Given the description of an element on the screen output the (x, y) to click on. 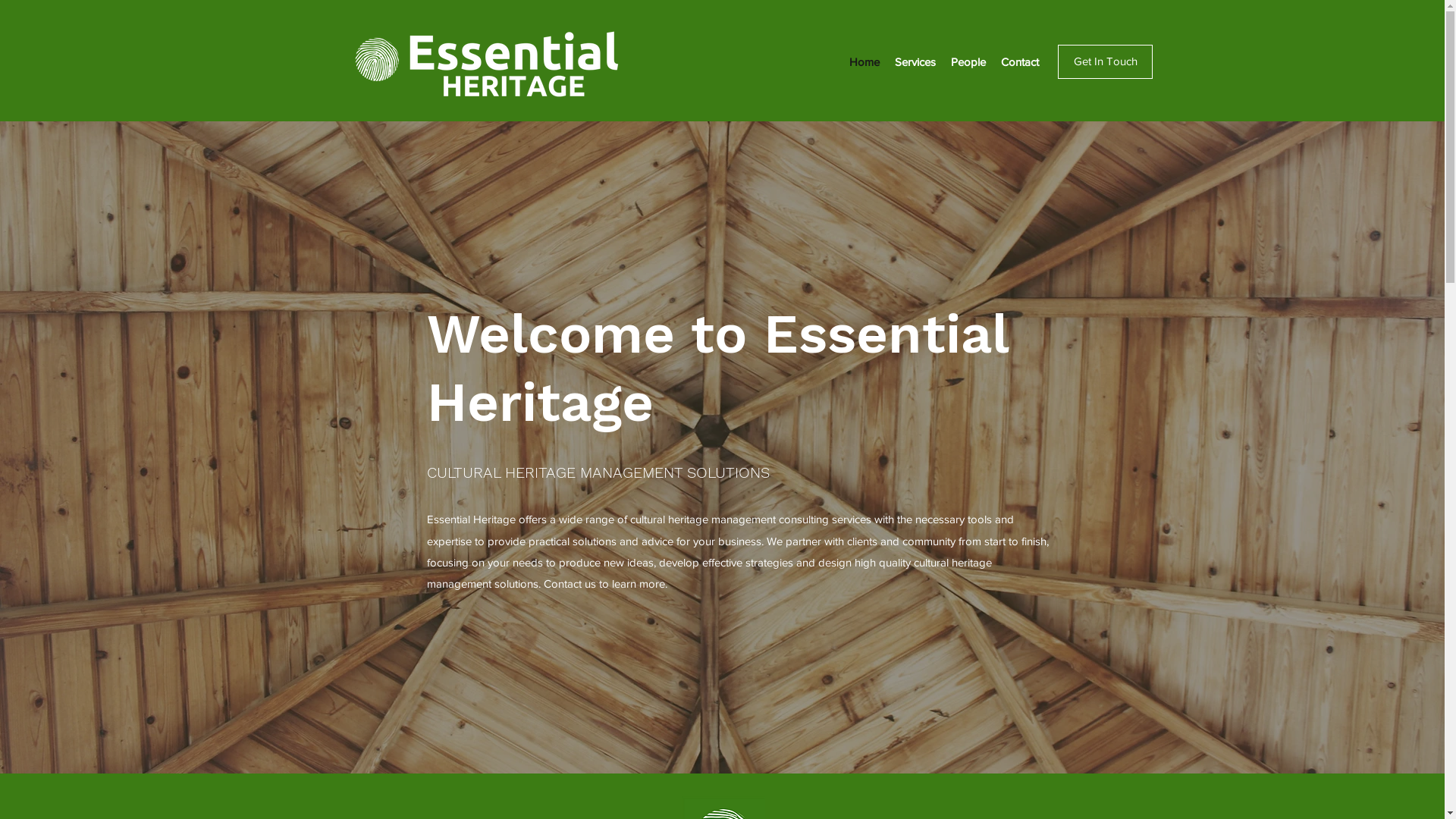
Get In Touch Element type: text (1104, 61)
Services Element type: text (915, 61)
Contact Element type: text (1019, 61)
People Element type: text (968, 61)
Home Element type: text (864, 61)
